Given the description of an element on the screen output the (x, y) to click on. 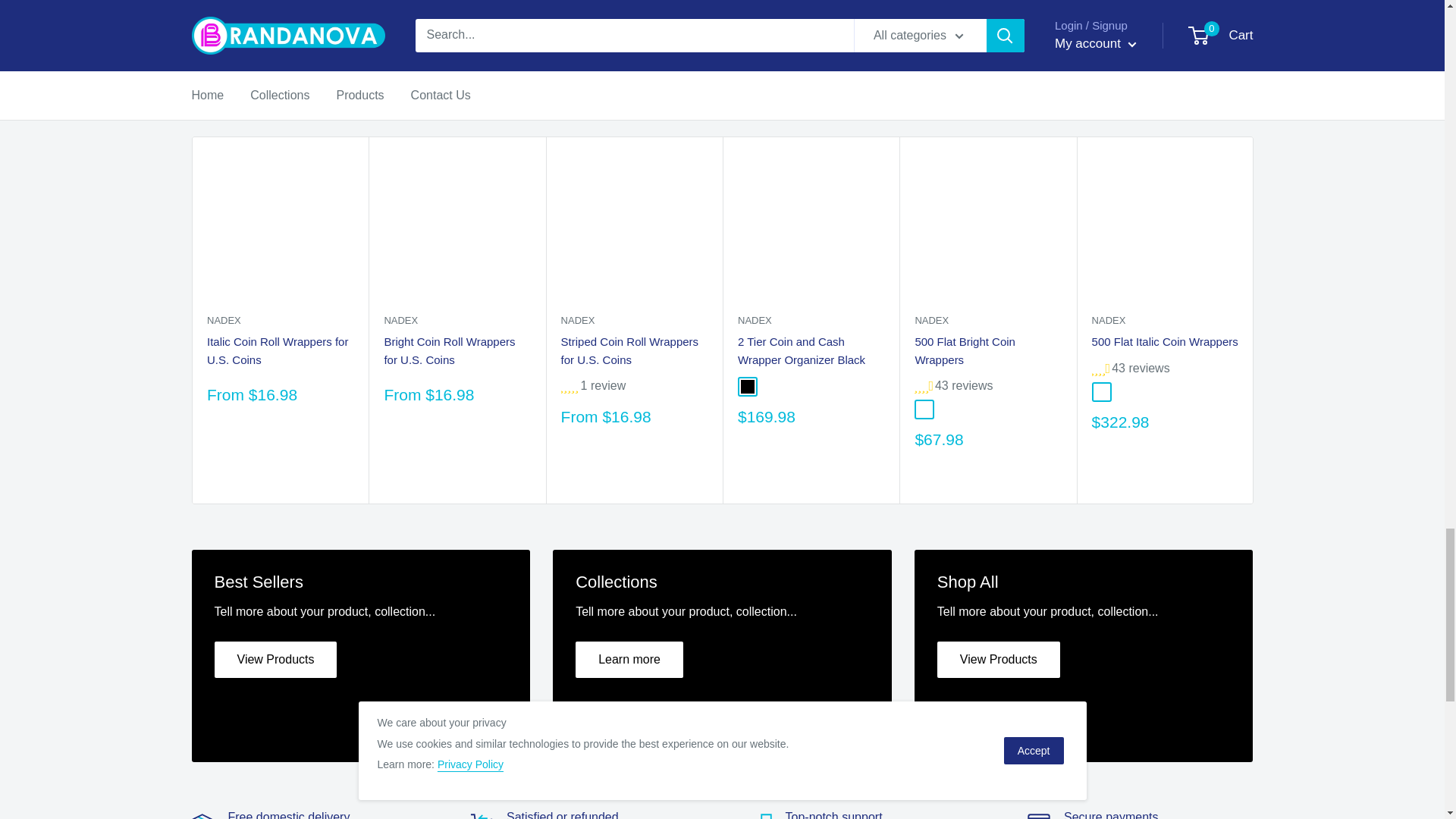
Classic (1101, 391)
Bright (924, 409)
Black (746, 386)
